Given the description of an element on the screen output the (x, y) to click on. 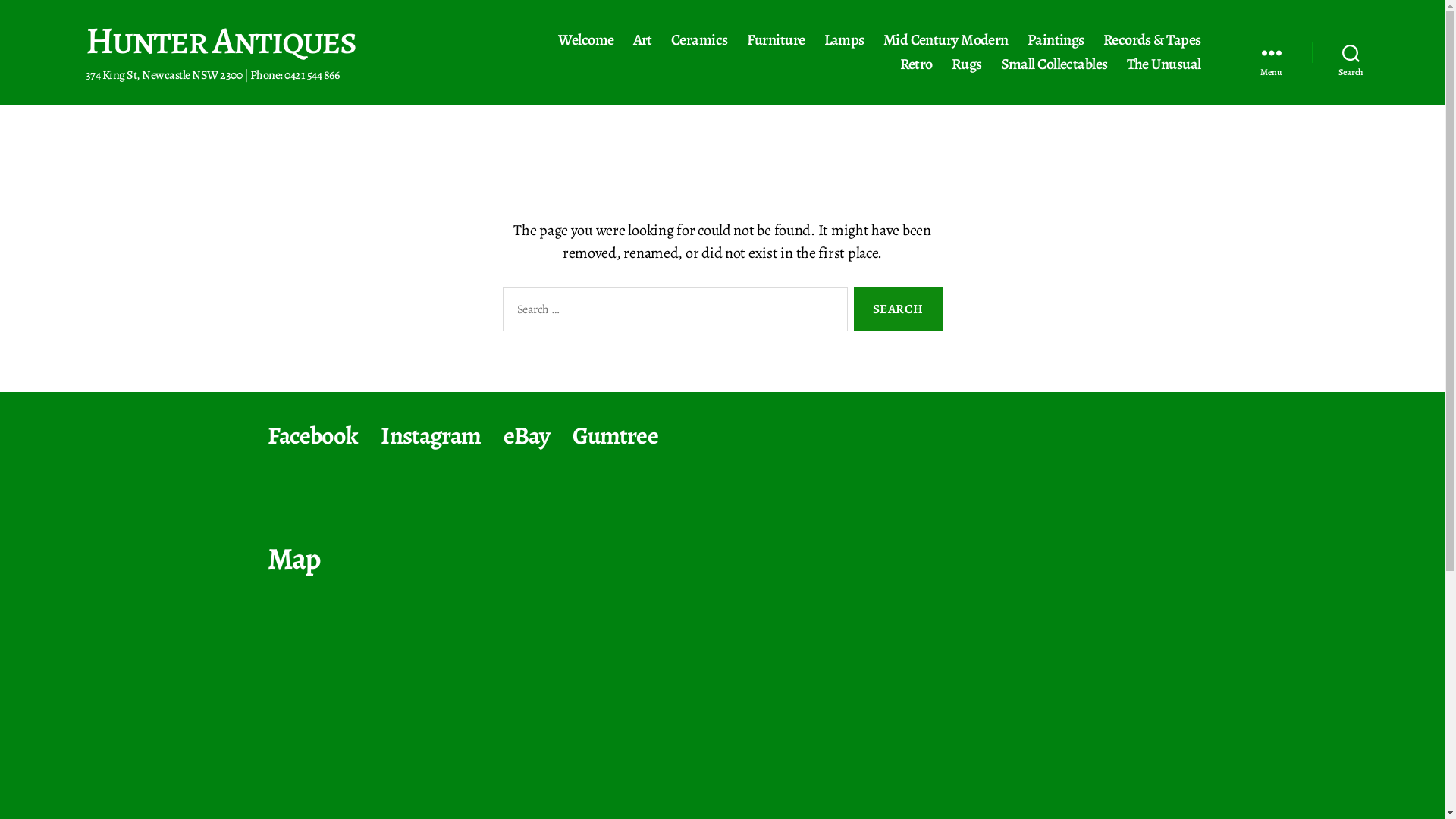
Lamps Element type: text (844, 40)
Ceramics Element type: text (699, 40)
Welcome Element type: text (585, 40)
Search Element type: text (1350, 52)
The Unusual Element type: text (1163, 64)
Rugs Element type: text (966, 64)
Instagram Element type: text (430, 434)
Paintings Element type: text (1055, 40)
Facebook Element type: text (311, 434)
Small Collectables Element type: text (1054, 64)
Menu Element type: text (1271, 52)
Art Element type: text (642, 40)
Furniture Element type: text (775, 40)
eBay Element type: text (526, 434)
Retro Element type: text (916, 64)
Search Element type: text (897, 309)
Hunter Antiques Element type: text (219, 40)
Mid Century Modern Element type: text (945, 40)
Records & Tapes Element type: text (1152, 40)
Gumtree Element type: text (615, 434)
